Given the description of an element on the screen output the (x, y) to click on. 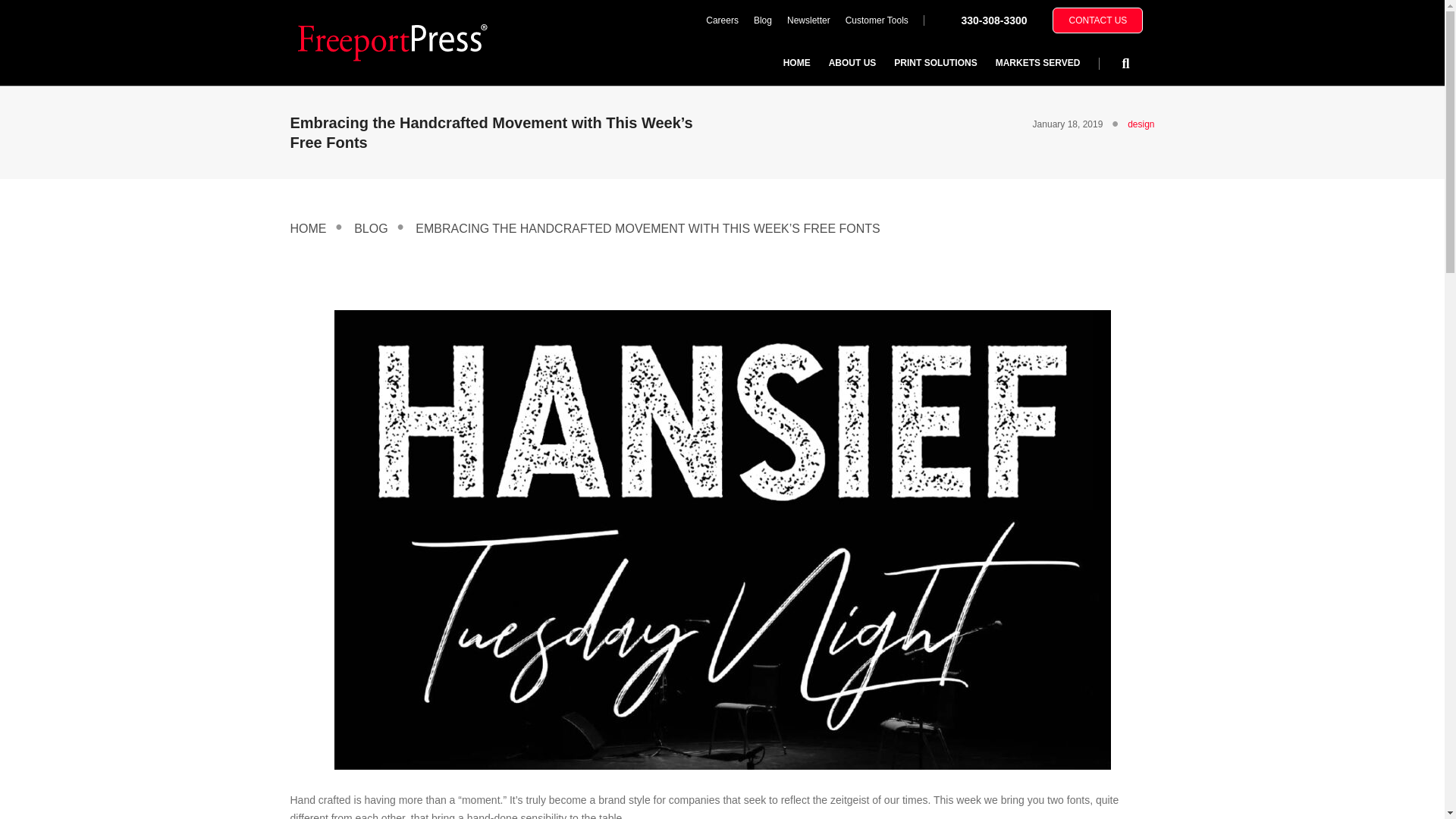
Newsletter (808, 20)
Customer Tools (876, 20)
330-308-3300 (993, 20)
CONTACT US (1097, 20)
ABOUT US (852, 62)
Careers (721, 20)
HOME (796, 62)
Blog (761, 20)
MARKETS SERVED (1038, 62)
PRINT SOLUTIONS (935, 62)
